Given the description of an element on the screen output the (x, y) to click on. 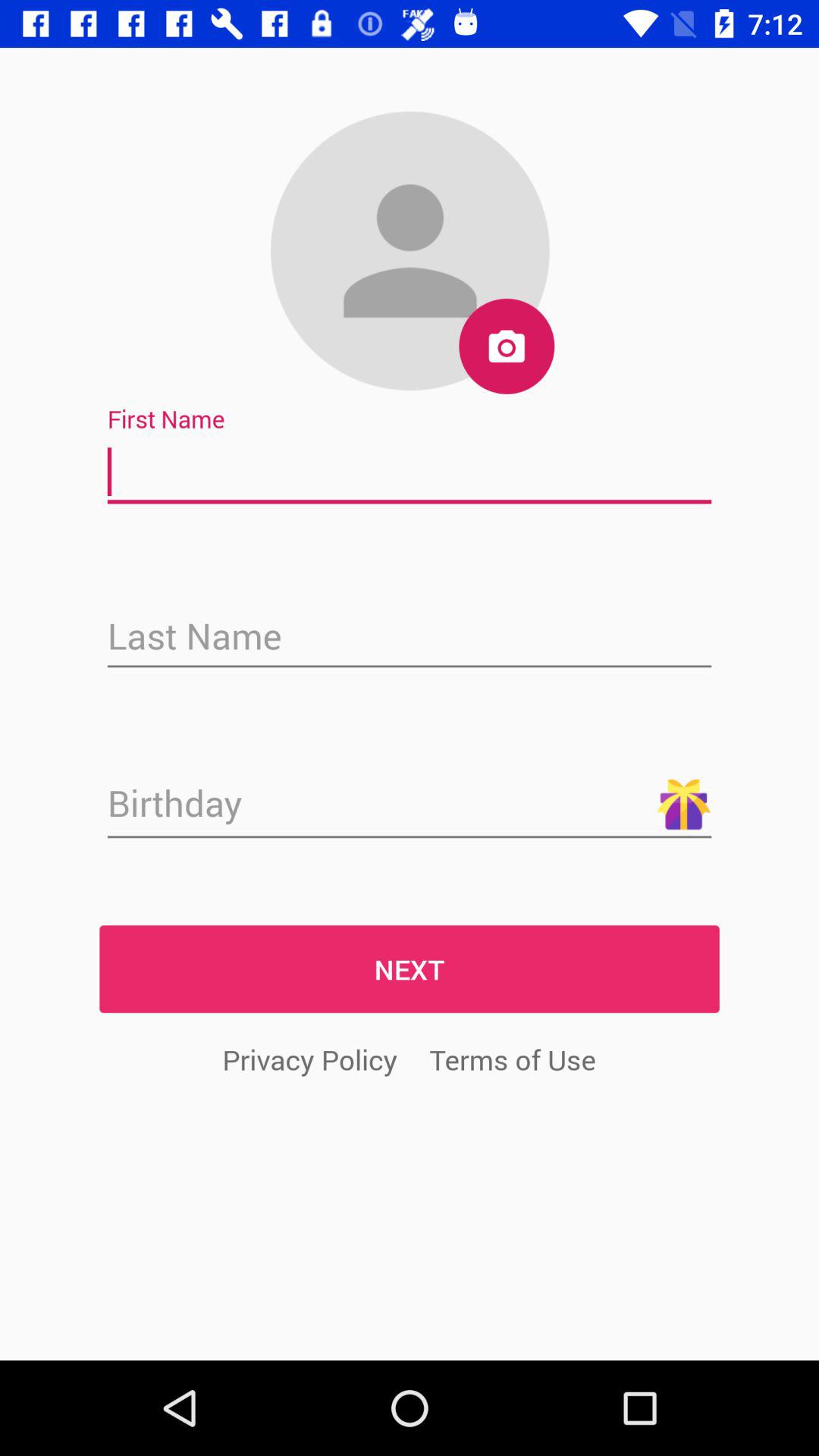
enter last name (409, 638)
